Given the description of an element on the screen output the (x, y) to click on. 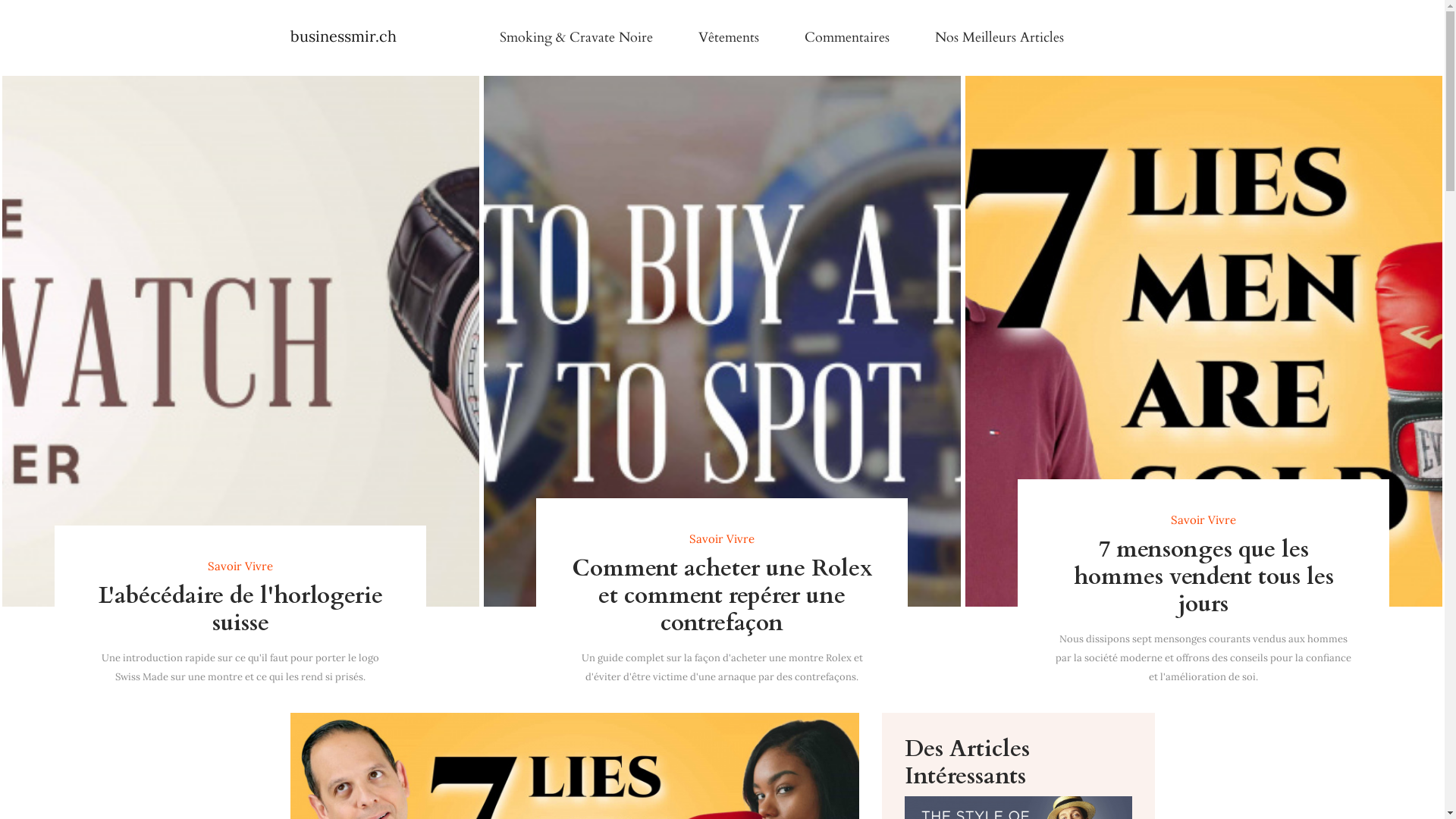
Savoir Vivre Element type: text (240, 566)
Savoir Vivre Element type: text (1203, 520)
Nos Meilleurs Articles Element type: text (998, 37)
7 mensonges que les hommes vendent tous les jours Element type: text (1203, 577)
businessmir.ch Element type: text (342, 37)
Savoir Vivre Element type: text (721, 539)
Commentaires Element type: text (846, 37)
Smoking & Cravate Noire Element type: text (575, 37)
